Given the description of an element on the screen output the (x, y) to click on. 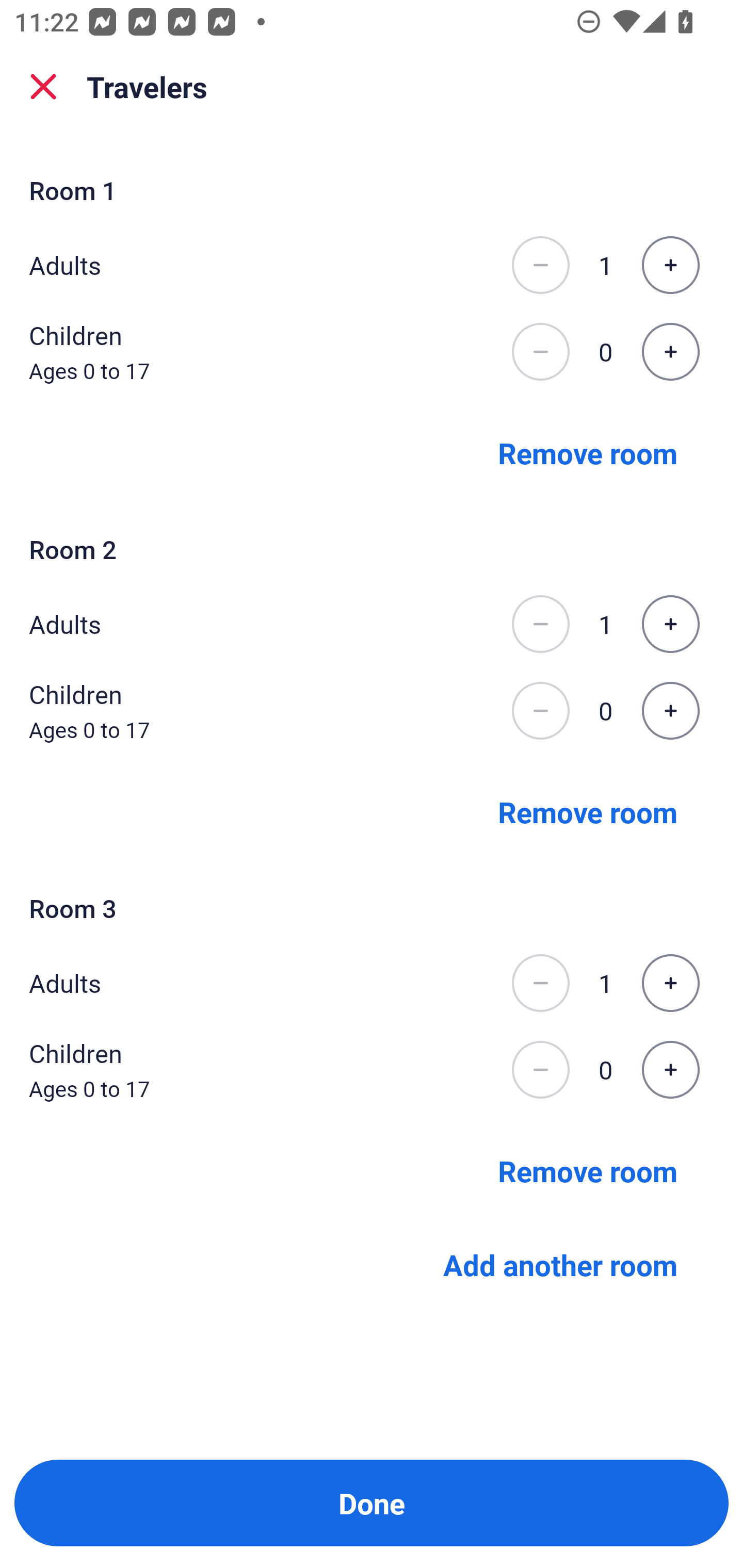
close (43, 86)
Decrease the number of adults (540, 264)
Increase the number of adults (670, 264)
Decrease the number of children (540, 351)
Increase the number of children (670, 351)
Remove room (588, 452)
Decrease the number of adults (540, 623)
Increase the number of adults (670, 623)
Decrease the number of children (540, 710)
Increase the number of children (670, 710)
Remove room (588, 811)
Decrease the number of adults (540, 983)
Increase the number of adults (670, 983)
Decrease the number of children (540, 1070)
Increase the number of children (670, 1070)
Remove room (588, 1170)
Add another room (560, 1264)
Done (371, 1502)
